Given the description of an element on the screen output the (x, y) to click on. 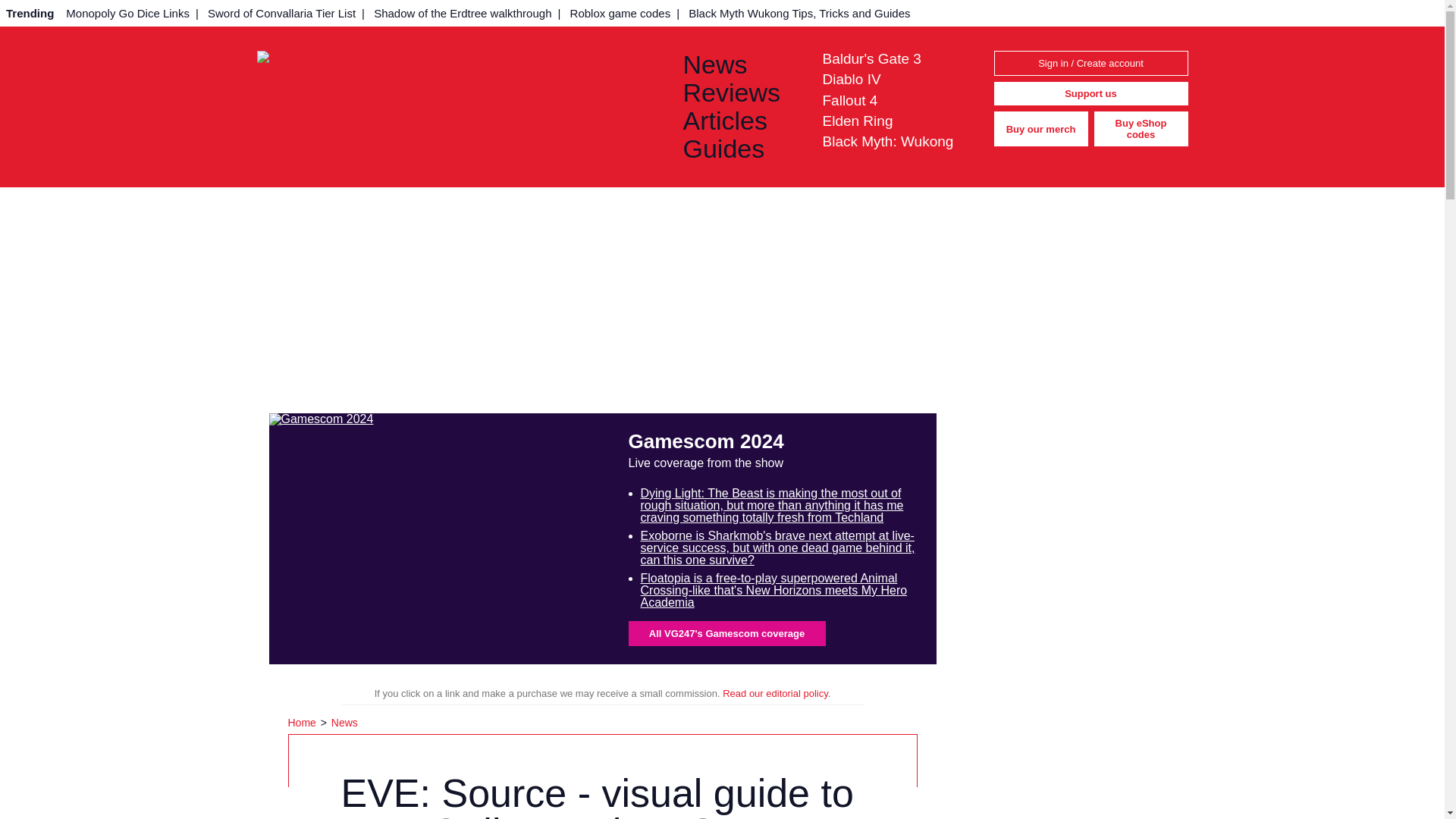
News (739, 64)
Articles (739, 121)
Gamescom 2024 (438, 538)
Black Myth Wukong Tips, Tricks and Guides (798, 13)
Shadow of the Erdtree walkthrough (462, 13)
Articles (739, 121)
Read our editorial policy (775, 693)
News (344, 722)
